Given the description of an element on the screen output the (x, y) to click on. 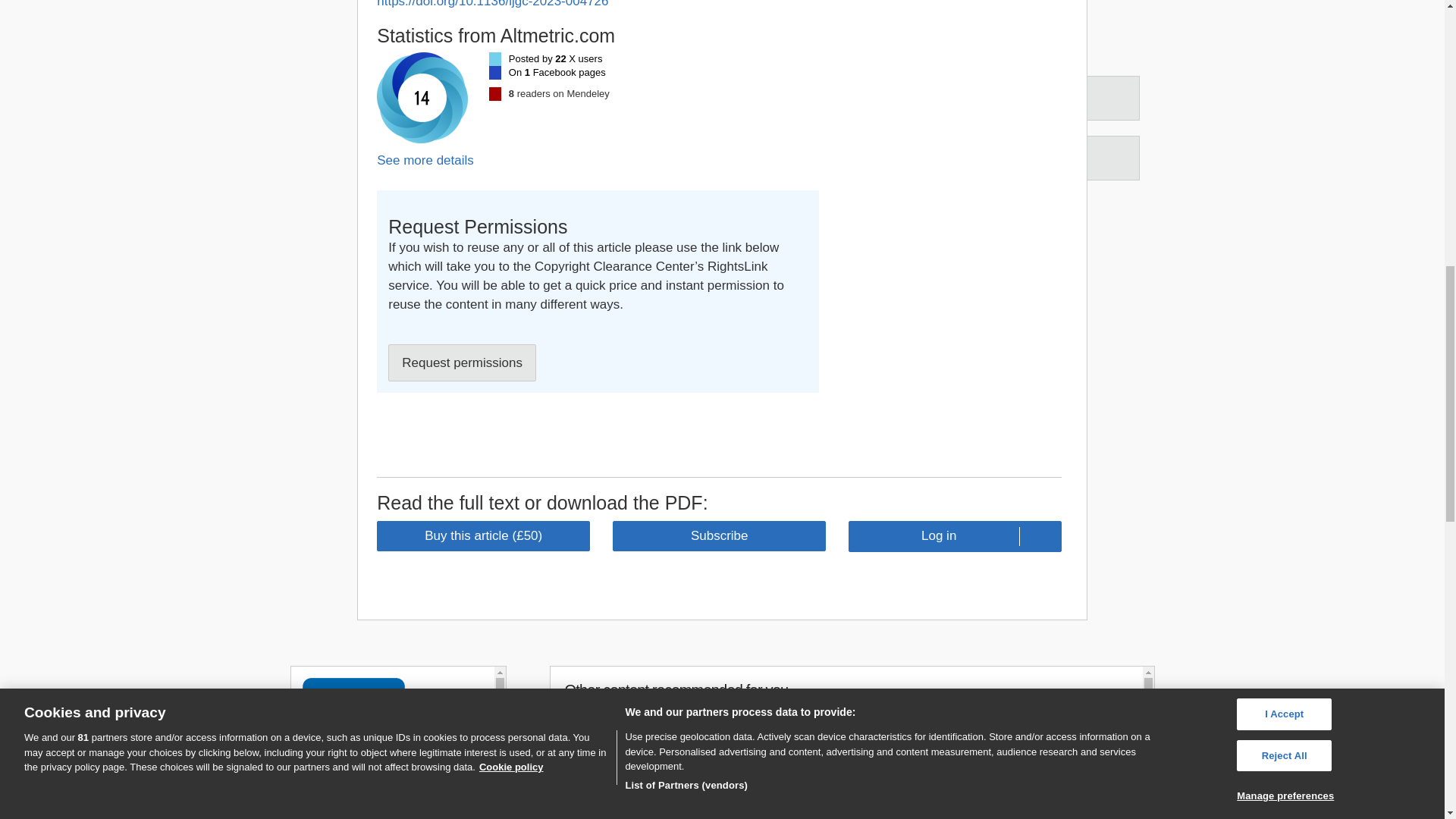
careers widget (397, 742)
